Given the description of an element on the screen output the (x, y) to click on. 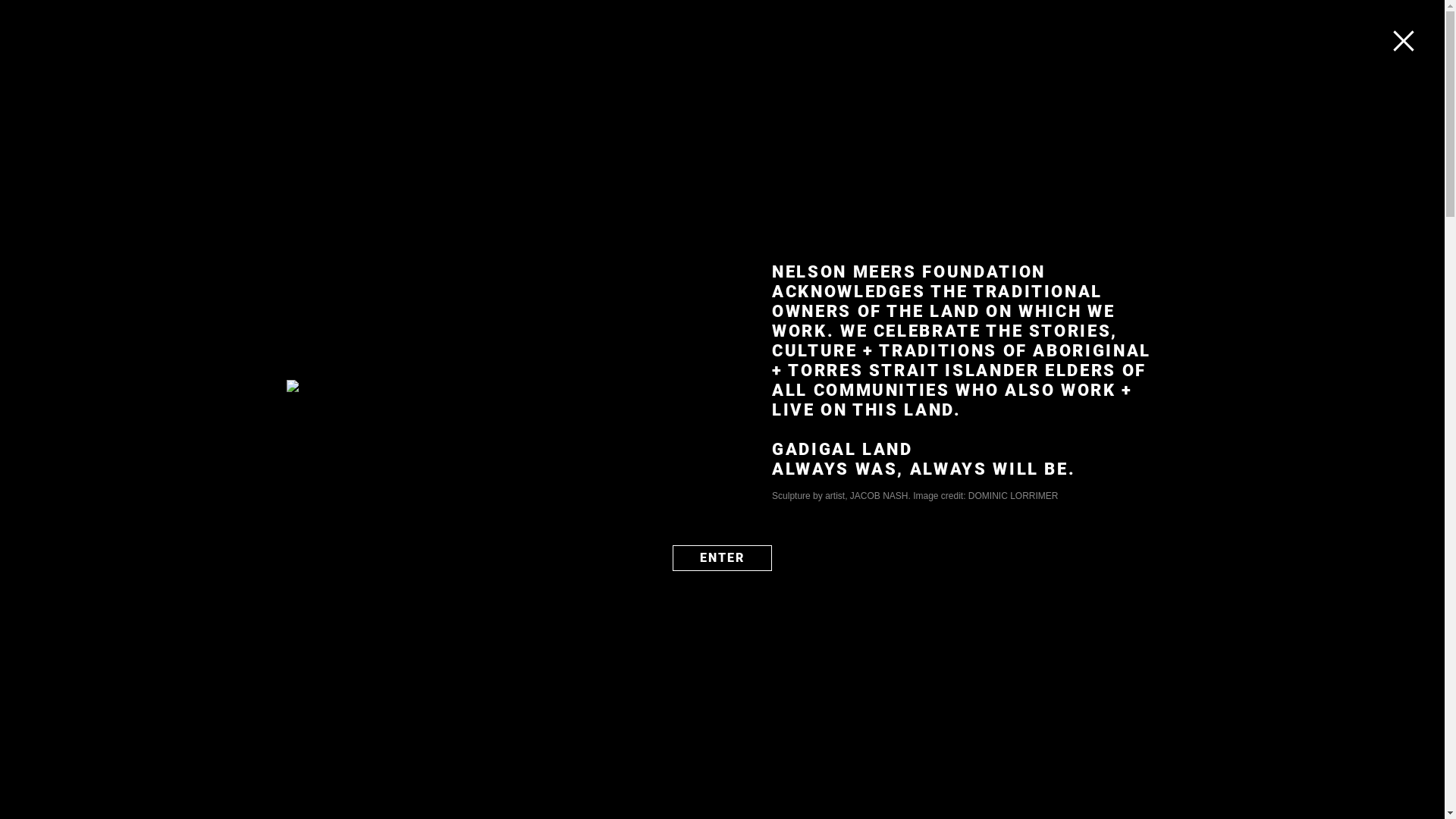
ENGAGE Element type: text (981, 28)
The Stella Prize Schools Project Element type: hover (543, 196)
Impact Films Take Aim at Social Sector Element type: text (1006, 531)
These sound therapists made a stress-relieving orchestra Element type: text (1006, 465)
ENTER Element type: text (721, 557)
Megan Davis Is on the TIME100 Next 2023 List Element type: text (1006, 501)
Submission from Helen Garner: National Cultural Policy Element type: text (1006, 567)
How our actors build our global image Element type: text (1006, 728)
OUR PARTNERS Element type: text (790, 28)
CONVERSATIONS Element type: text (895, 28)
A magical dance with the devil Element type: text (1006, 375)
CONNECT Element type: text (1050, 28)
OUR FOCUS Element type: text (698, 28)
A Thousand flowers in bloom Element type: text (1006, 603)
OUR PROJECTS Element type: text (607, 28)
